Given the description of an element on the screen output the (x, y) to click on. 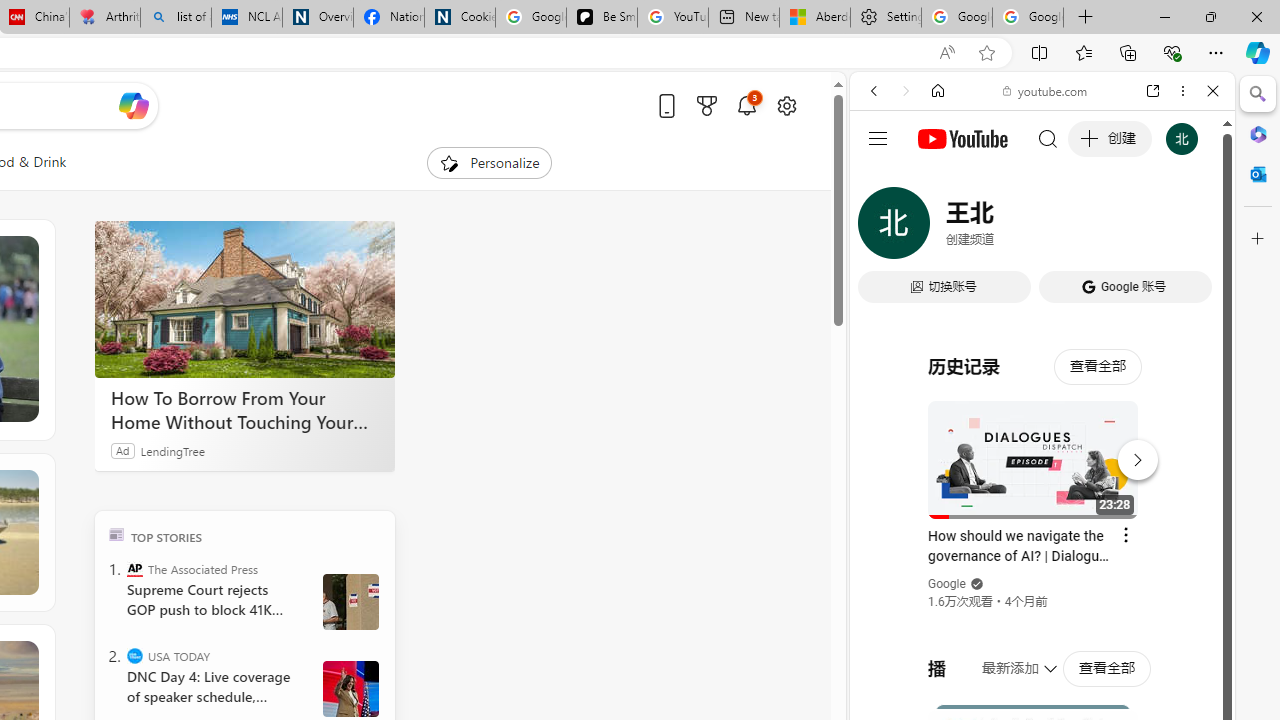
Be Smart | creating Science videos | Patreon (602, 17)
IMAGES (939, 228)
SEARCH TOOLS (1093, 228)
Close (1213, 91)
Split screen (1039, 52)
Favorites (1083, 52)
New Tab (1085, 17)
Add this page to favorites (Ctrl+D) (986, 53)
TOP (116, 534)
Search Filter, VIDEOS (1006, 228)
